Given the description of an element on the screen output the (x, y) to click on. 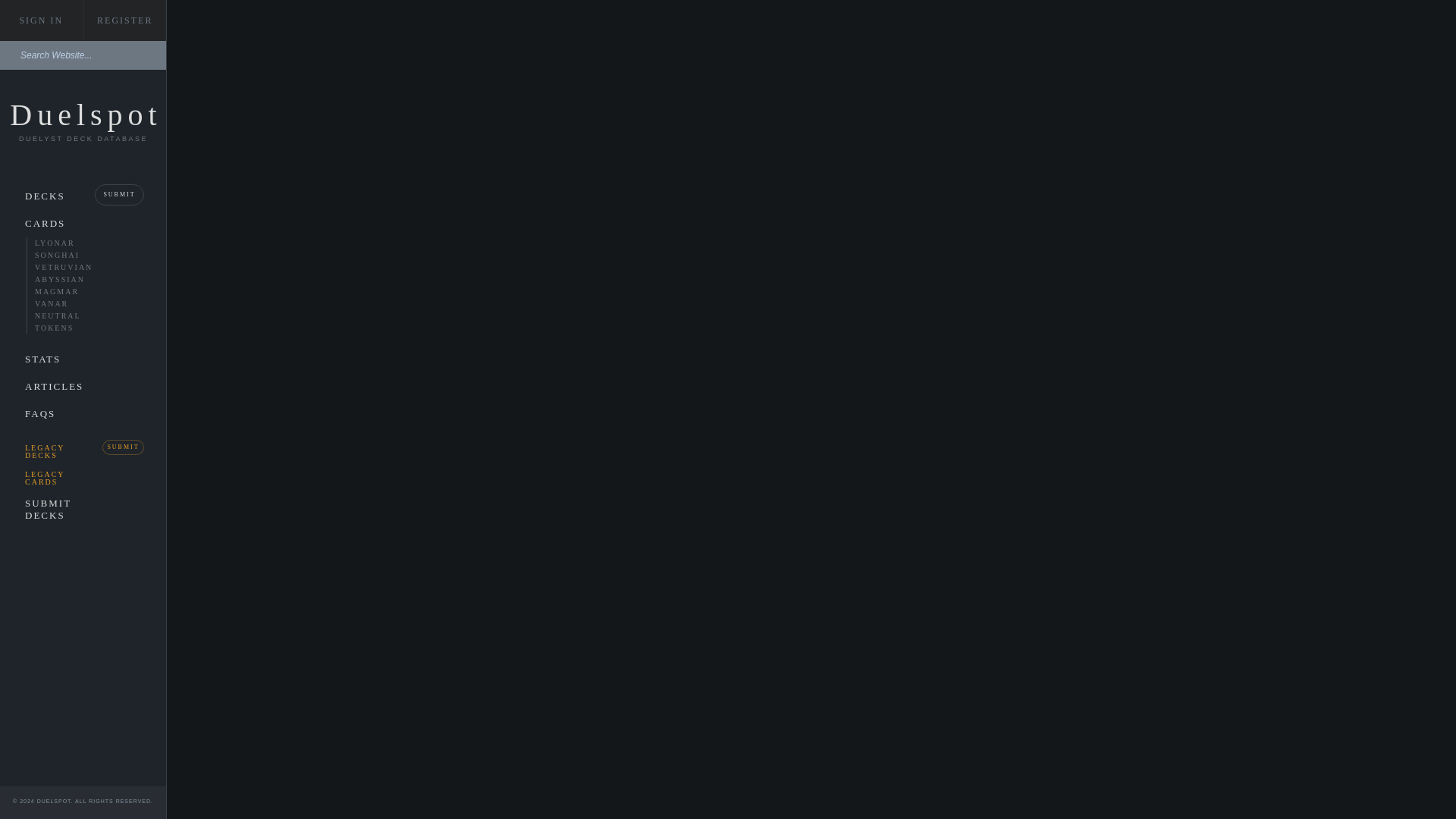
SUBMIT (122, 447)
STATS (82, 359)
REGISTER (124, 20)
TOKENS (67, 327)
SUBMIT DECKS (47, 509)
LYONAR (67, 242)
Duelspot (85, 114)
SUBMIT (119, 193)
LEGACY DECKS (47, 449)
VANAR (67, 303)
